Given the description of an element on the screen output the (x, y) to click on. 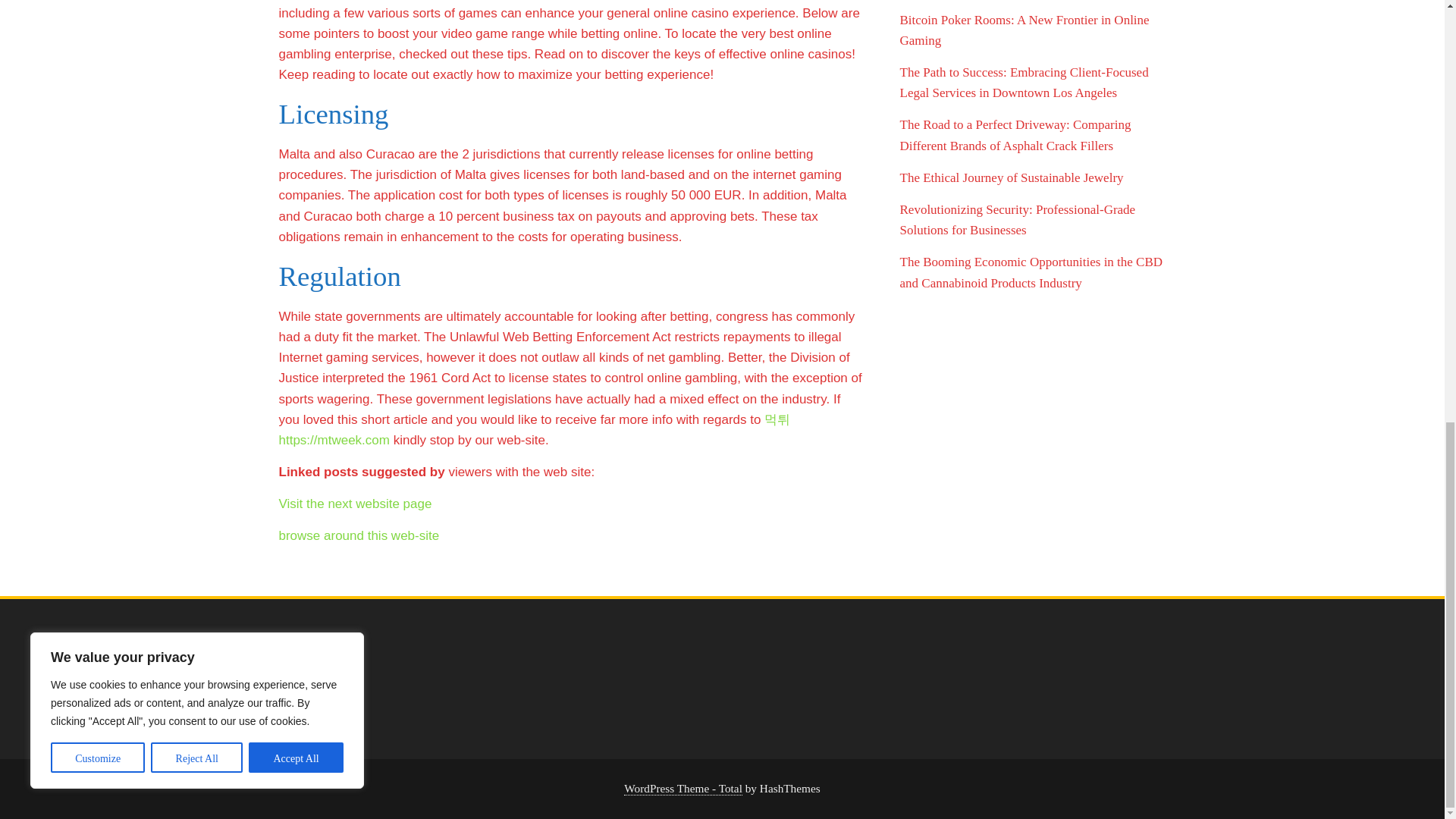
browse around this web-site (359, 535)
Visit the next website page (355, 503)
Bitcoin Poker Rooms: A New Frontier in Online Gaming (1023, 30)
